Given the description of an element on the screen output the (x, y) to click on. 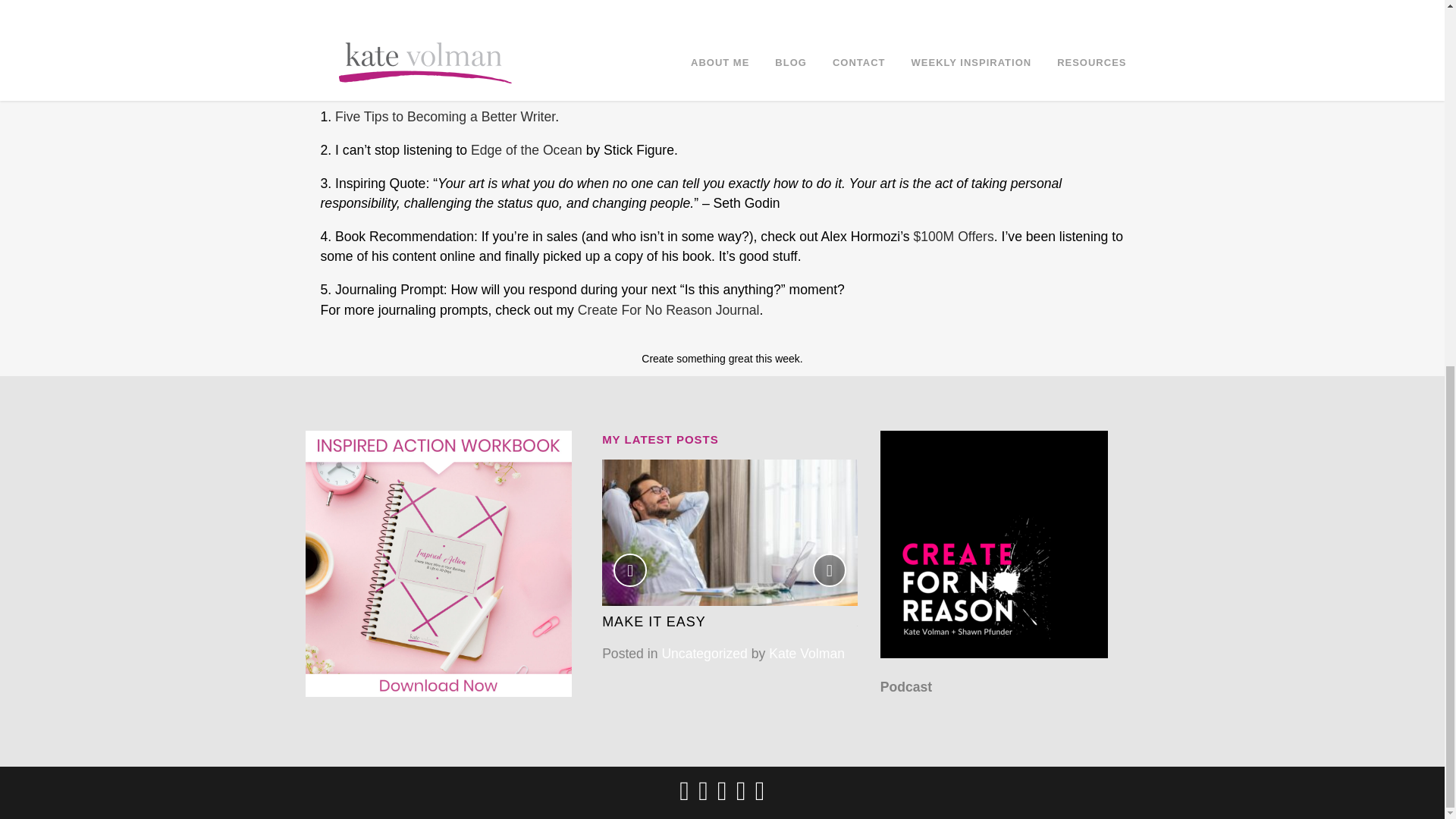
Uncategorized (703, 653)
Kate Volman (806, 653)
Five Tips to Becoming a Better Writer (444, 116)
Create For No Reason Journal (669, 309)
MAKE IT EASY (654, 621)
Edge of the Ocean (526, 150)
